Given the description of an element on the screen output the (x, y) to click on. 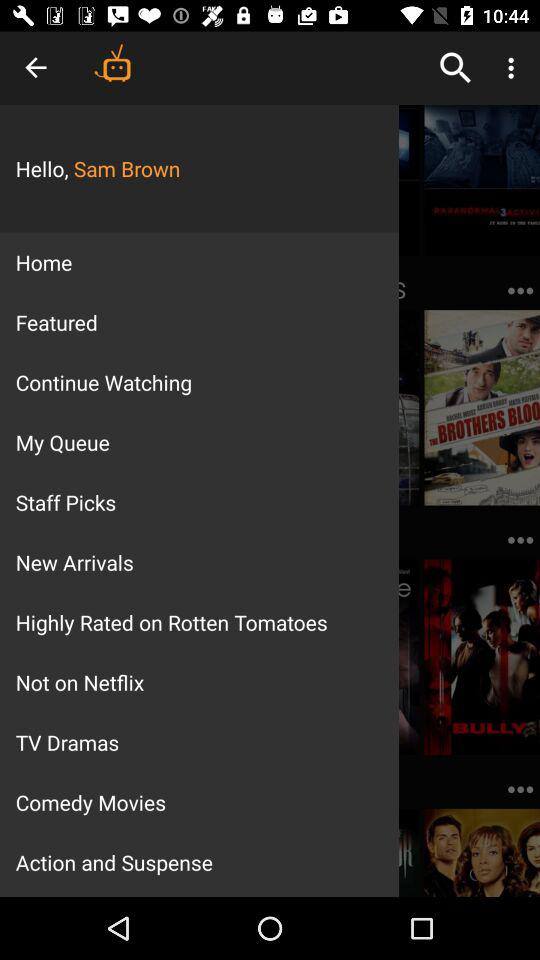
choose the image at bottom right corner of page (482, 852)
